Given the description of an element on the screen output the (x, y) to click on. 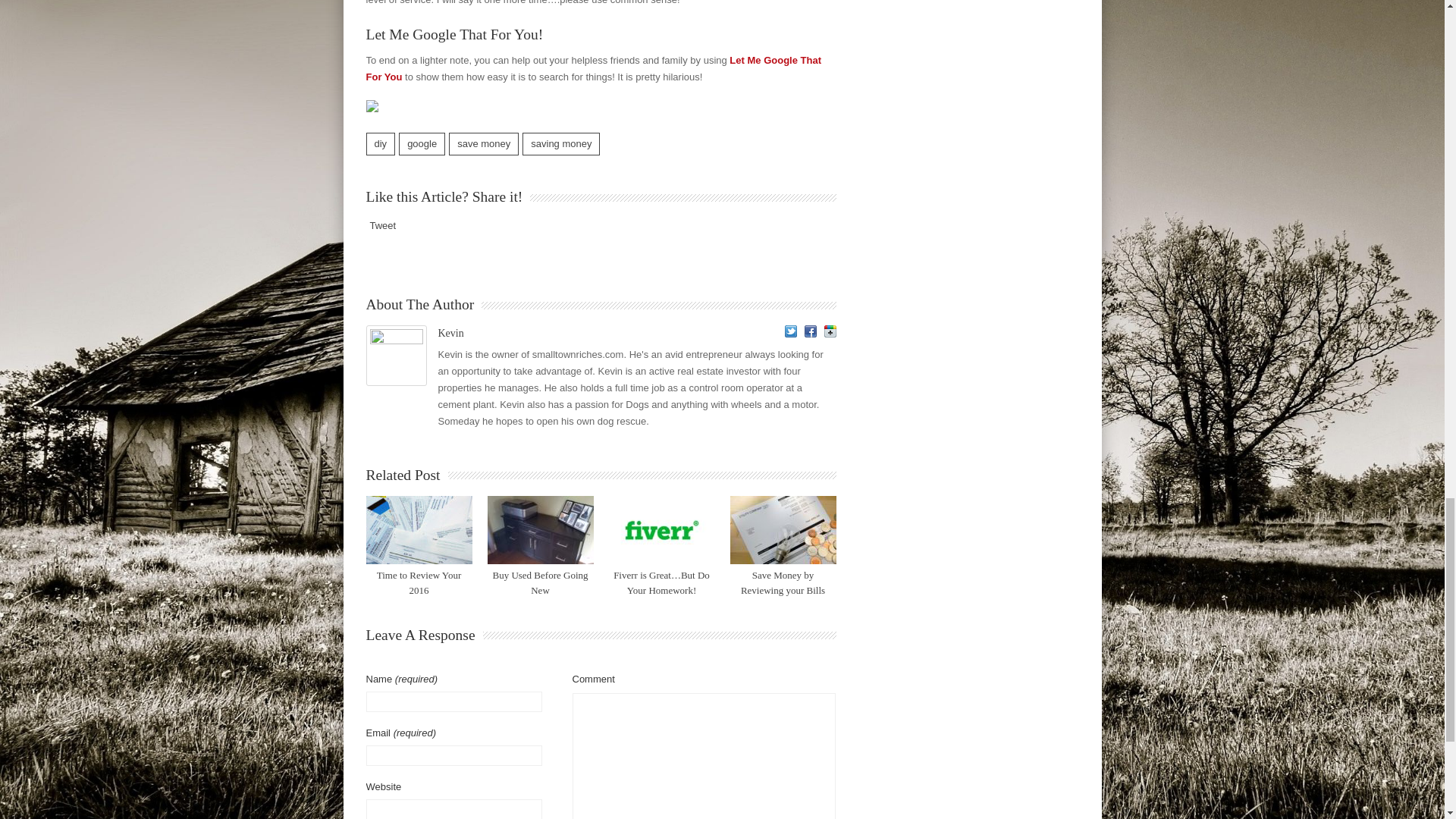
Posts by Kevin (451, 333)
Buy Used Before Going New (539, 530)
Tweet (382, 225)
Save Money by Reviewing your Bills (782, 530)
save money (483, 143)
Buy Used Before Going New (540, 582)
Time to Review Your 2016 (419, 582)
Share on Tumblr (472, 224)
Time to Review Your 2016 (418, 530)
Share on Tumblr (472, 224)
saving money (560, 143)
Let Me Google That For You (593, 68)
google (421, 143)
diy (379, 143)
Save Money by Reviewing your Bills (783, 582)
